Given the description of an element on the screen output the (x, y) to click on. 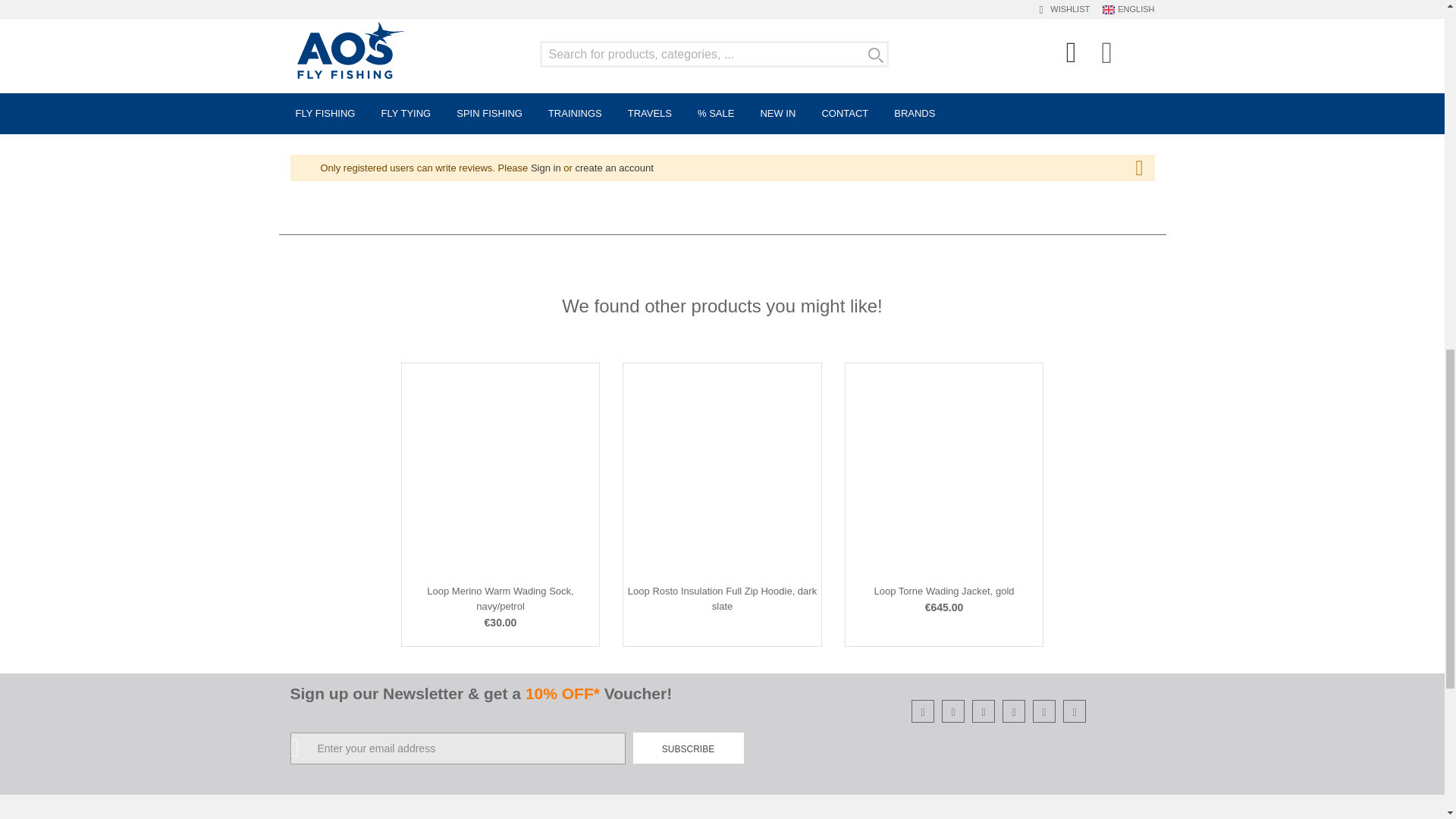
VIMEO (1075, 711)
Loop Rosto Insulation Full Zip Hoodie, dark slate (721, 598)
TWITTER (1014, 711)
PINTEREST (1044, 711)
Subscribe (686, 747)
FACEBOOK (952, 711)
YOUTUBE (983, 711)
Loop Torne Wading Jacket, gold (943, 591)
INSTAGRAM (923, 711)
